Given the description of an element on the screen output the (x, y) to click on. 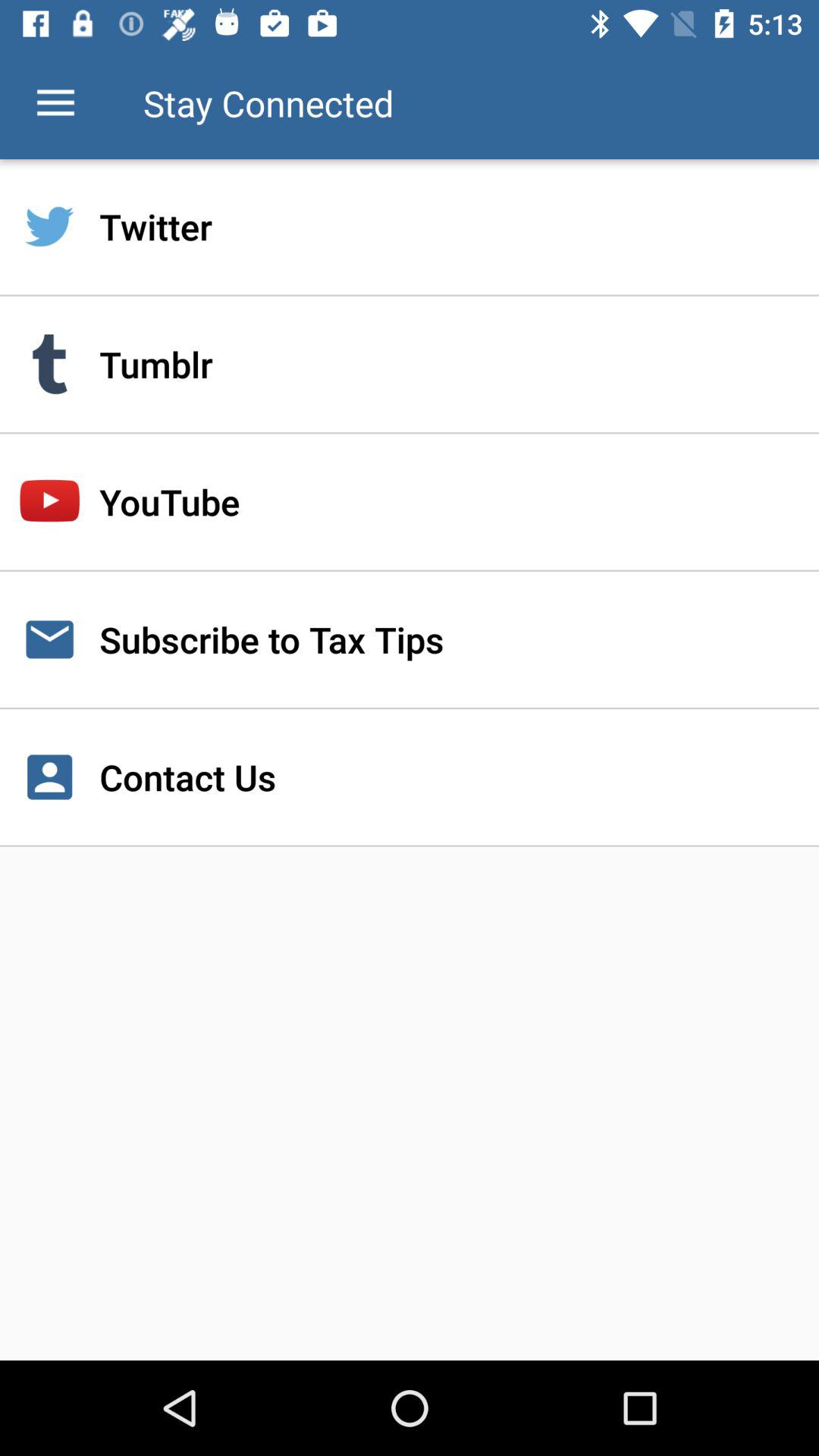
jump to tumblr item (409, 364)
